Given the description of an element on the screen output the (x, y) to click on. 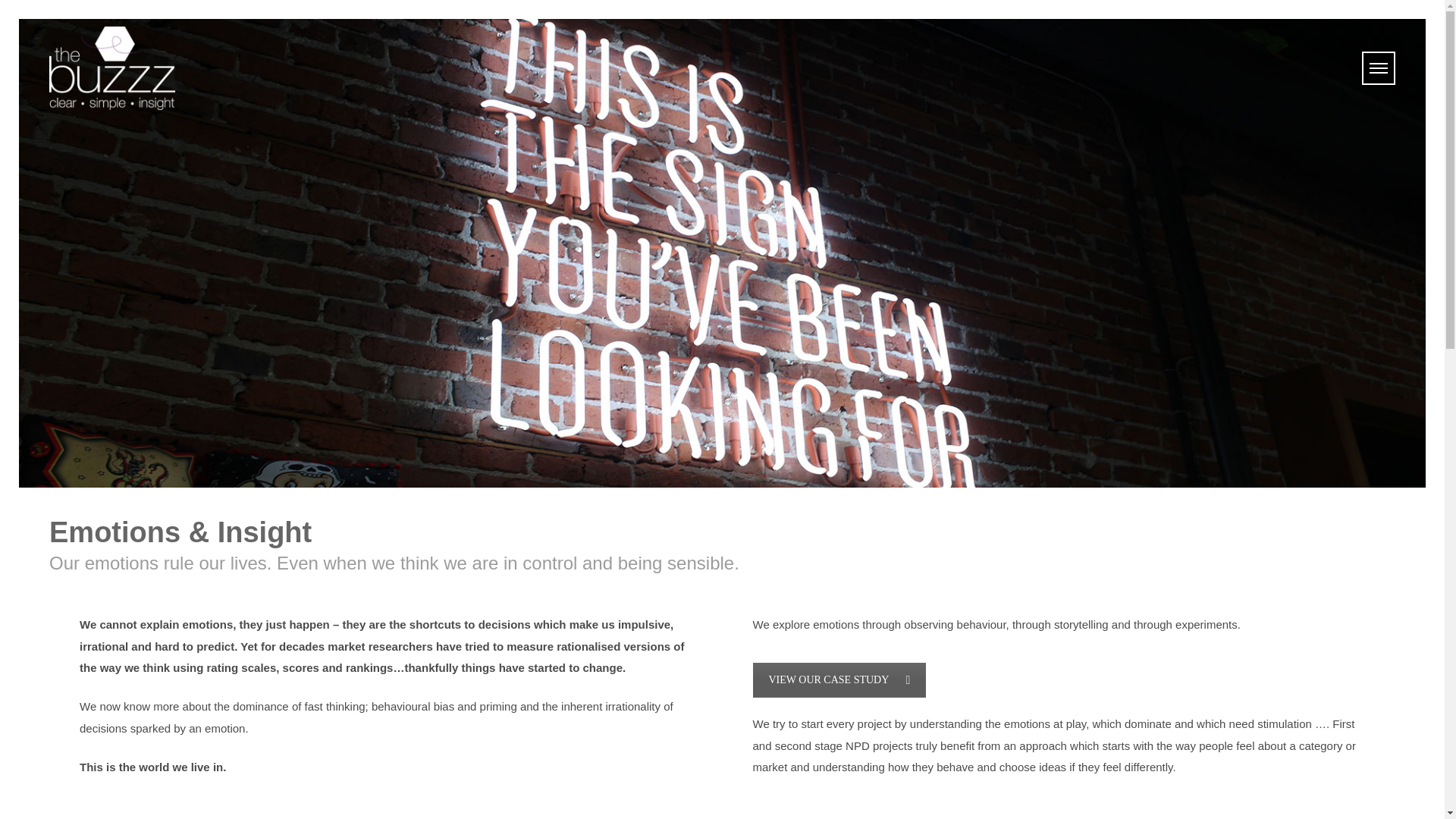
VIEW OUR CASE STUDY (839, 679)
